Given the description of an element on the screen output the (x, y) to click on. 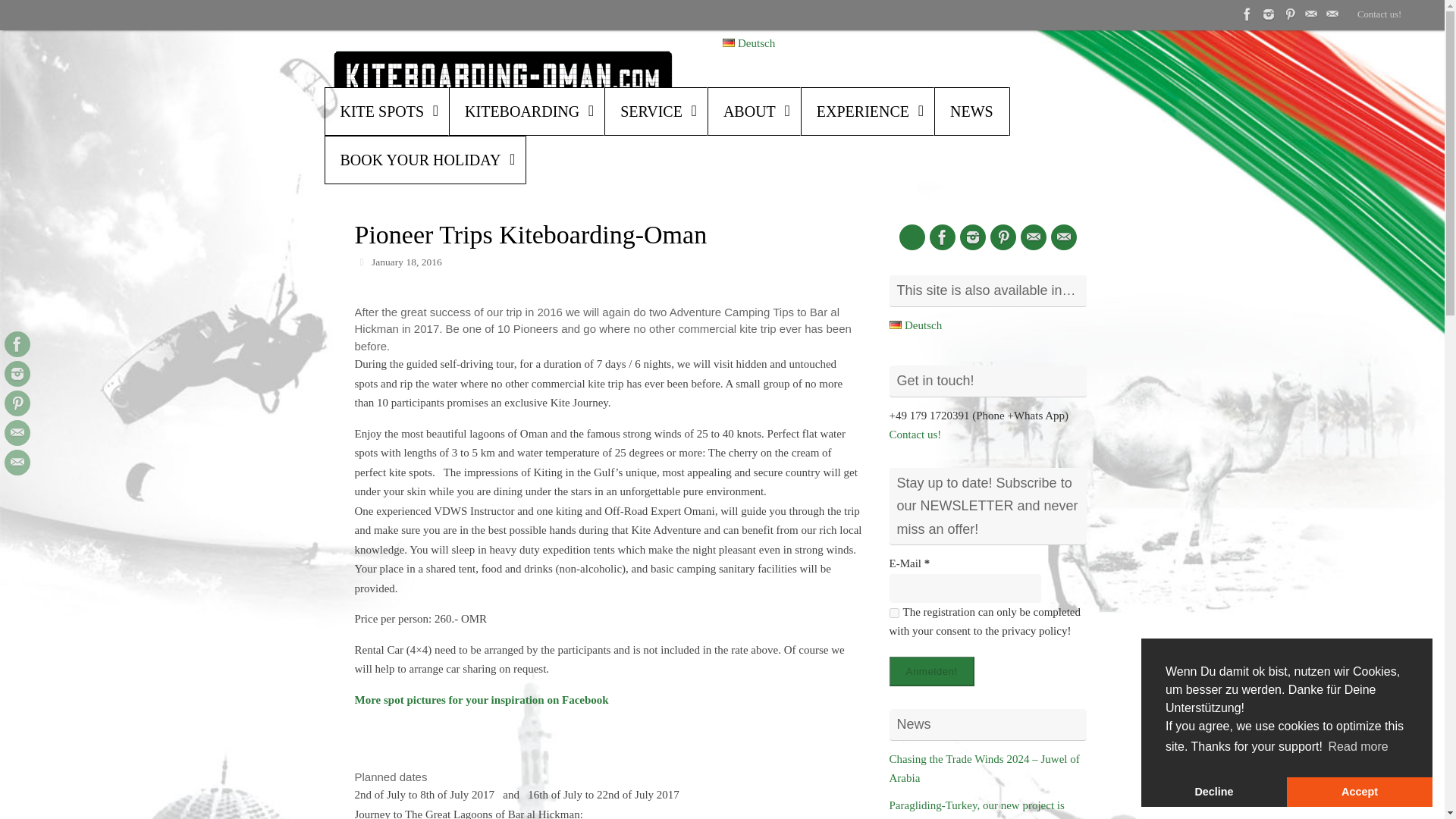
Read more (1357, 746)
Contact form (17, 432)
KBO on Pinterest (17, 403)
EXPERIENCE (867, 110)
Accept (1359, 791)
Write an E-Mail! (17, 462)
ABOUT (753, 110)
Write an E-Mail! (1332, 14)
KITE SPOTS (386, 110)
Decline (1214, 791)
Kiteboarding Oman (501, 74)
KBO on Instagram (1268, 14)
Deutsch (748, 42)
KBO on Pinterest (1289, 14)
KBO on Facebook (17, 344)
